Given the description of an element on the screen output the (x, y) to click on. 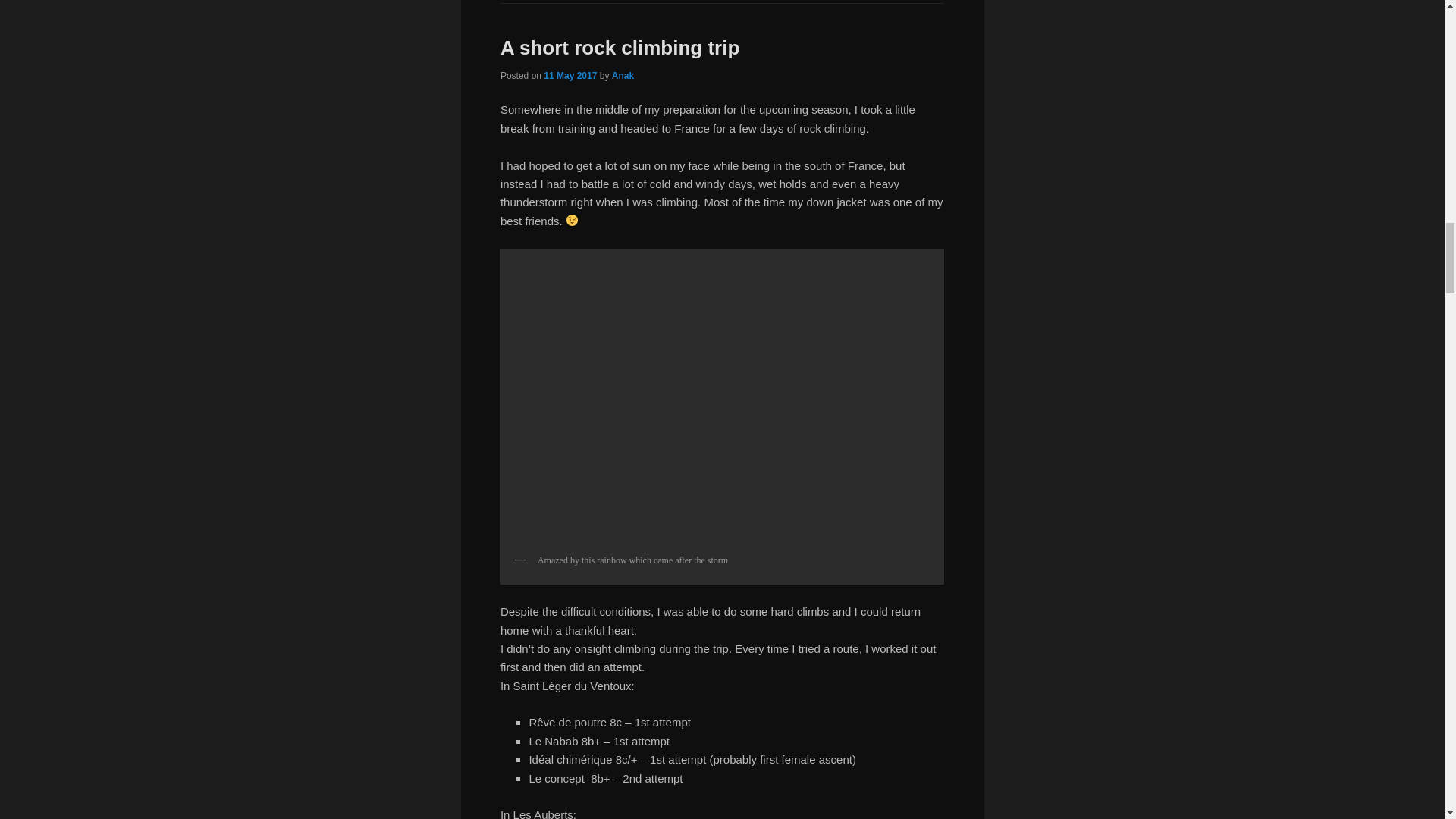
11:21 (569, 75)
View all posts by Anak (622, 75)
